Given the description of an element on the screen output the (x, y) to click on. 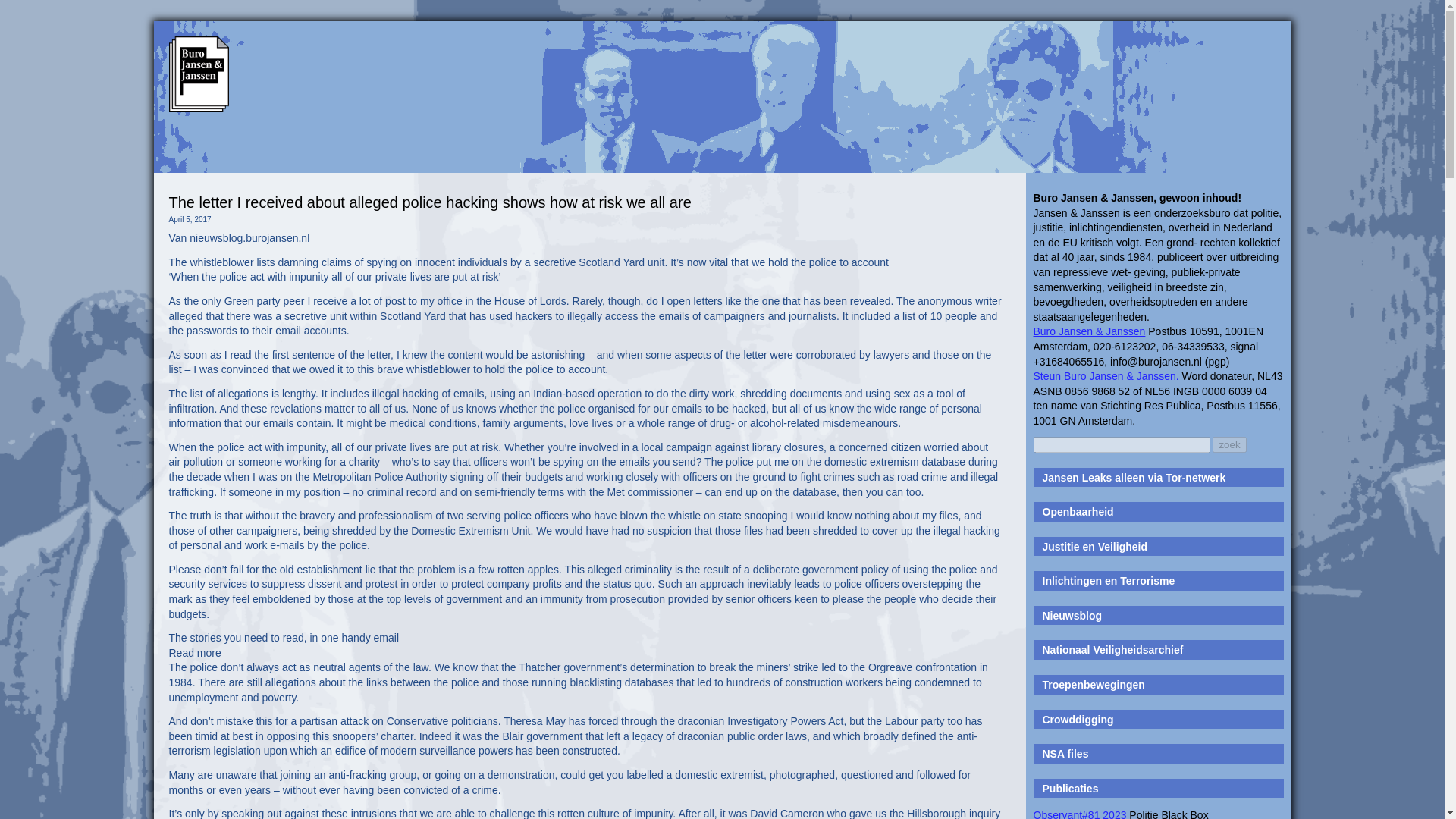
Nieuwsblog (1072, 615)
zoek (1229, 444)
Troepenbewegingen (1093, 684)
NSA files (1064, 753)
zoek (1229, 444)
Crowddigging (1077, 719)
Justitie en Veiligheid (1094, 546)
Inlichtingen en Terrorisme (1108, 580)
Jansen Leaks alleen via Tor-netwerk (1133, 477)
Openbaarheid (1077, 511)
